Given the description of an element on the screen output the (x, y) to click on. 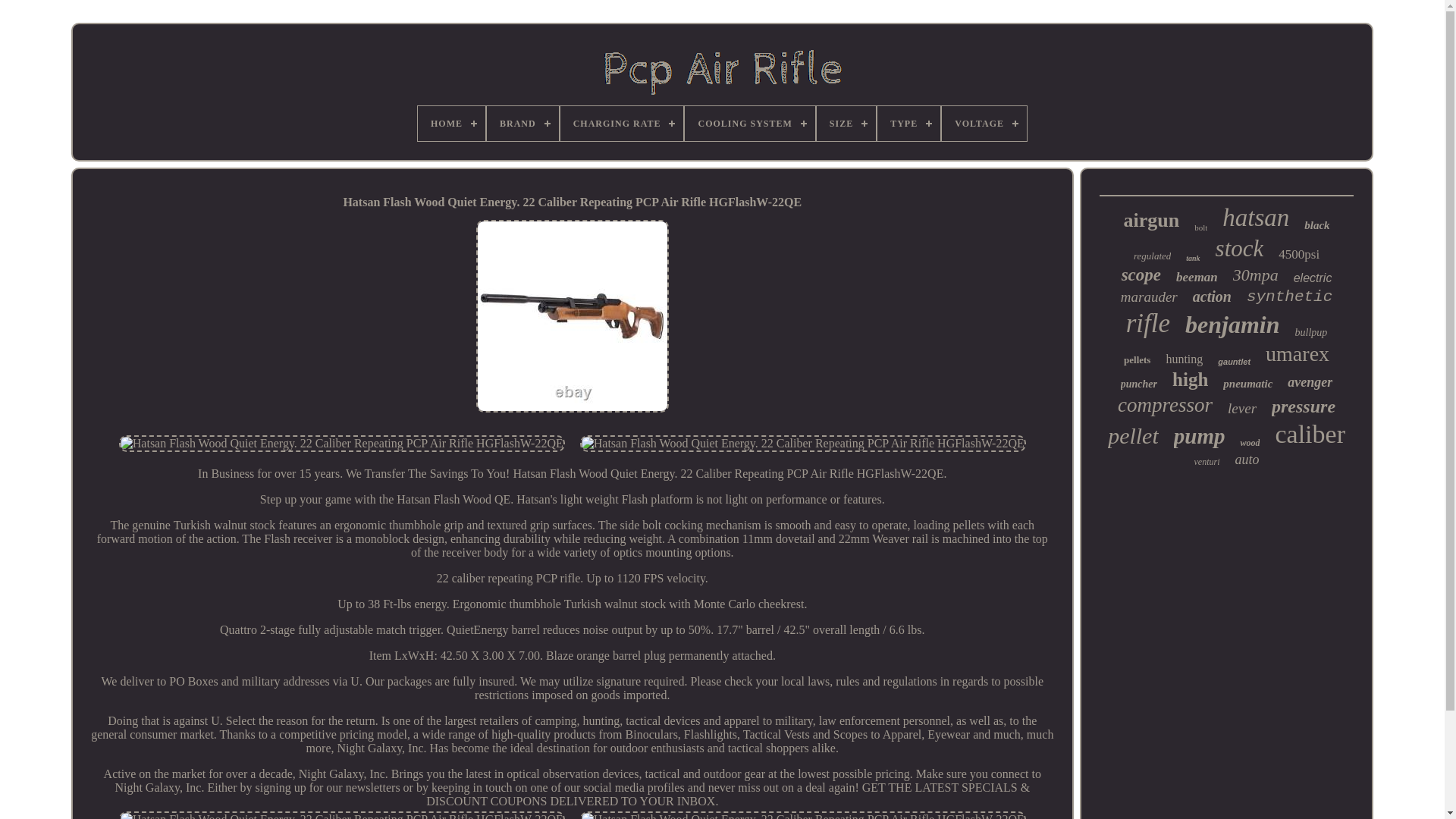
HOME (450, 123)
CHARGING RATE (622, 123)
BRAND (522, 123)
COOLING SYSTEM (748, 123)
